Given the description of an element on the screen output the (x, y) to click on. 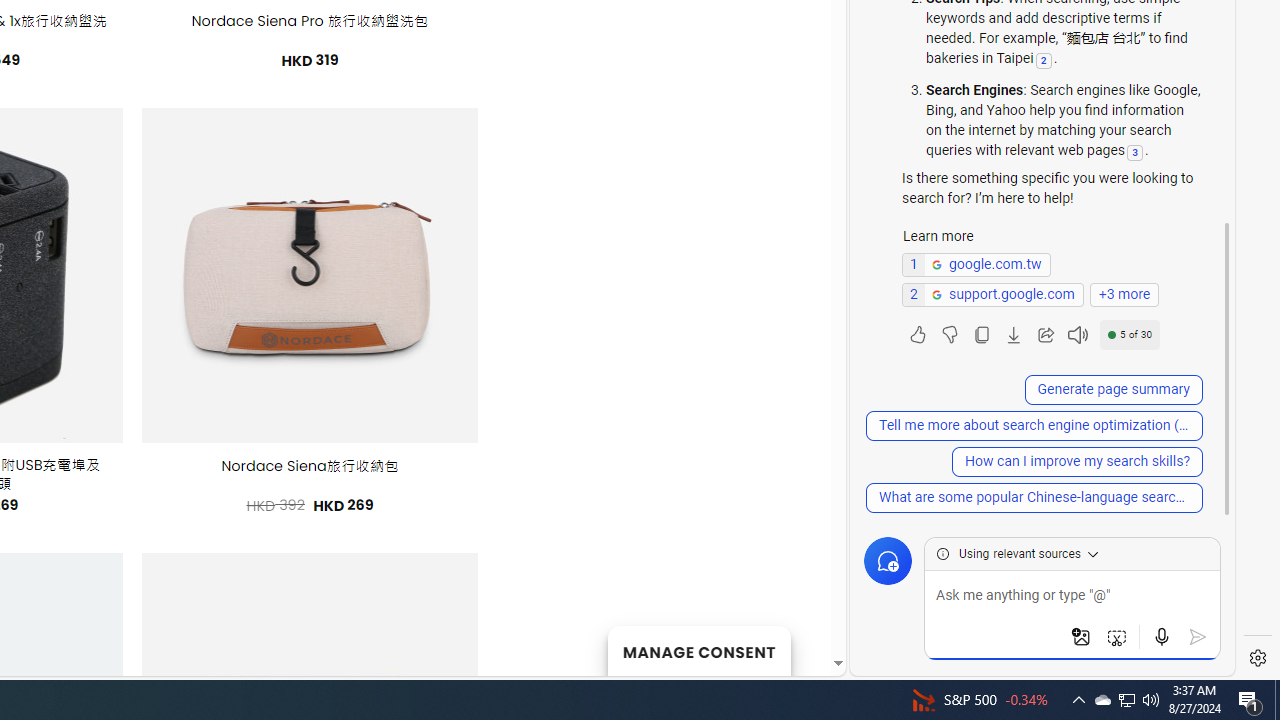
MANAGE CONSENT (698, 650)
